Given the description of an element on the screen output the (x, y) to click on. 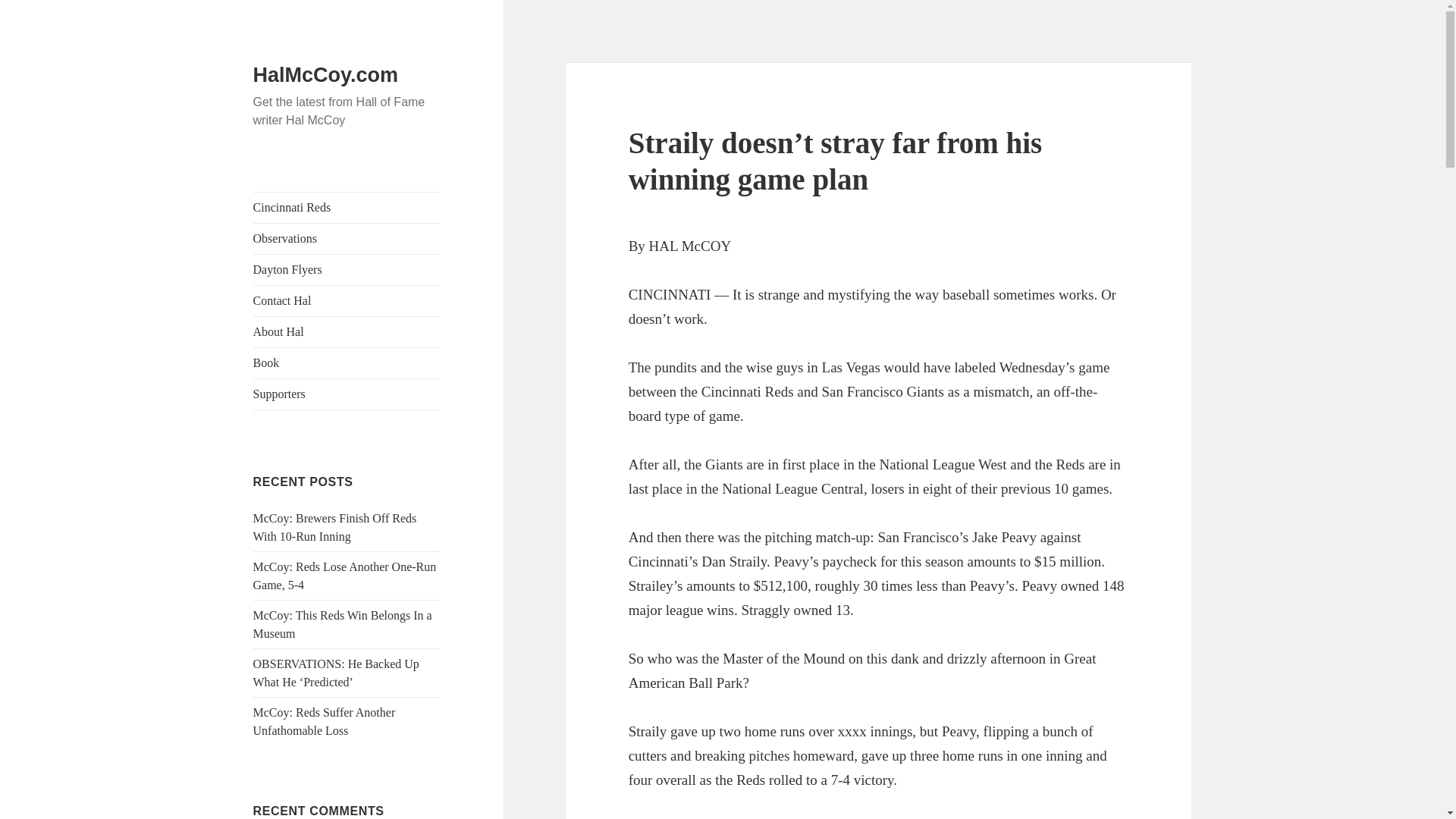
McCoy: Reds Suffer Another Unfathomable Loss (324, 721)
McCoy: Reds Lose Another One-Run Game, 5-4 (344, 575)
About Hal (347, 331)
HalMcCoy.com (325, 74)
Observations (347, 238)
Supporters (347, 394)
Cincinnati Reds (347, 207)
Contact Hal (347, 300)
McCoy: Brewers Finish Off Reds With 10-Run Inning (334, 526)
Book (347, 363)
